Given the description of an element on the screen output the (x, y) to click on. 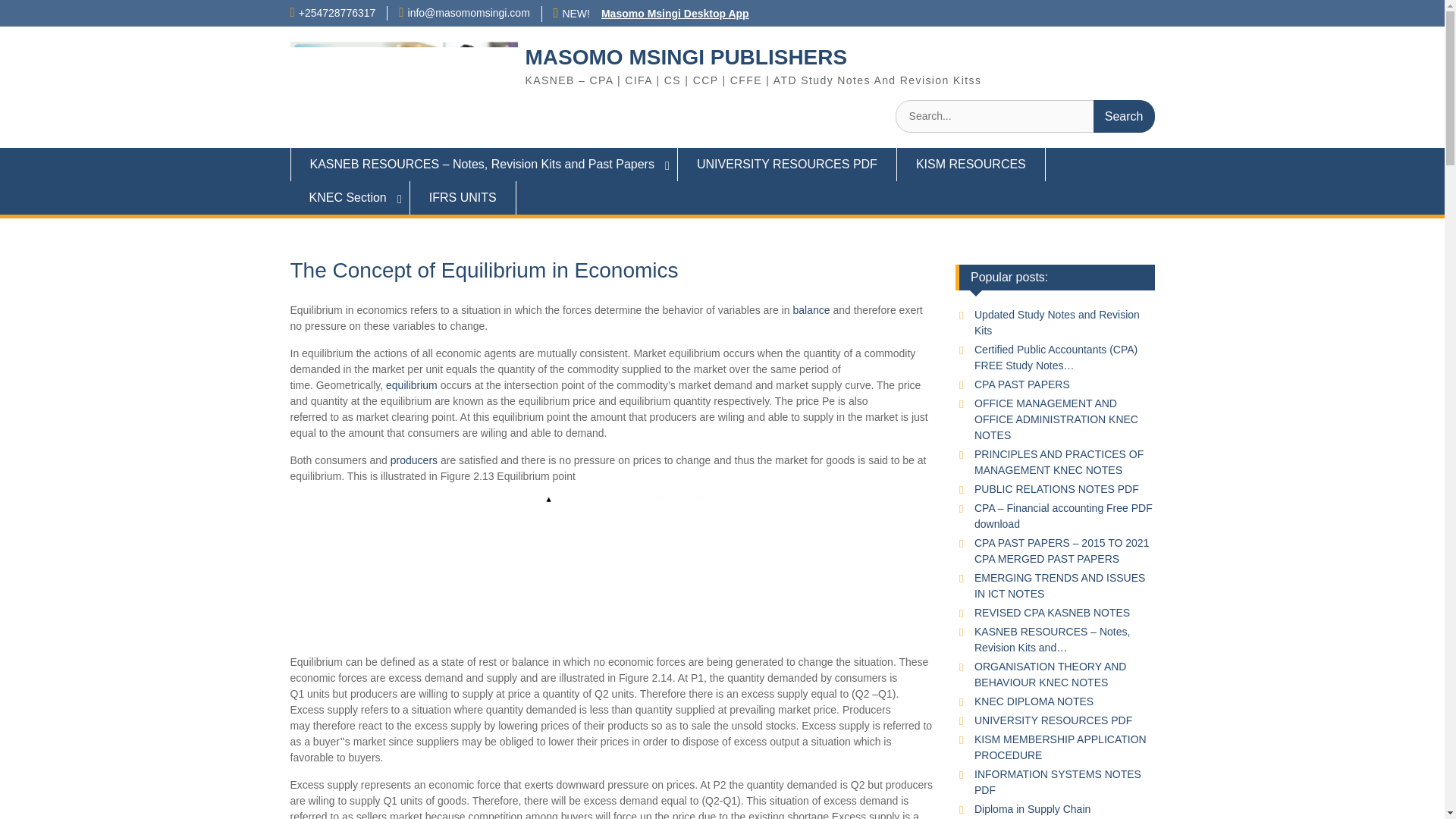
OFFICE MANAGEMENT AND OFFICE ADMINISTRATION KNEC NOTES (1056, 419)
Search (1123, 115)
CPA PAST PAPERS (1022, 384)
balance (811, 309)
UNIVERSITY RESOURCES PDF (787, 164)
MASOMO MSINGI PUBLISHERS (685, 56)
equilibrium (411, 385)
KISM RESOURCES (970, 164)
PRINCIPLES AND PRACTICES OF MANAGEMENT KNEC NOTES (1058, 461)
IFRS UNITS (463, 197)
